Given the description of an element on the screen output the (x, y) to click on. 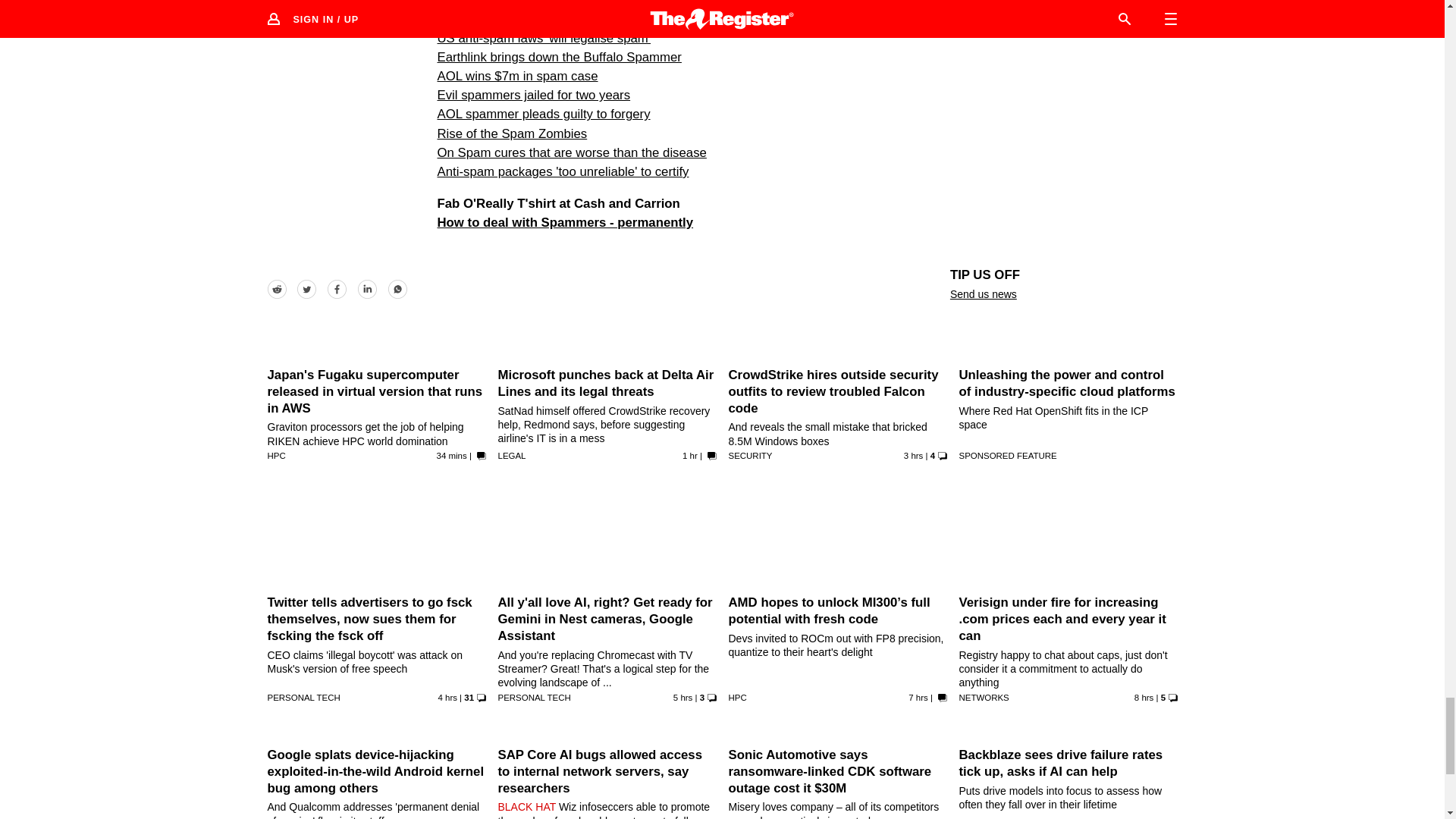
6 Aug 2024 22:13 (682, 696)
6 Aug 2024 20:42 (918, 696)
7 Aug 2024 1:50 (689, 455)
6 Aug 2024 19:20 (1144, 696)
7 Aug 2024 2:58 (451, 455)
6 Aug 2024 23:9 (447, 696)
7 Aug 2024 0:18 (913, 455)
